Given the description of an element on the screen output the (x, y) to click on. 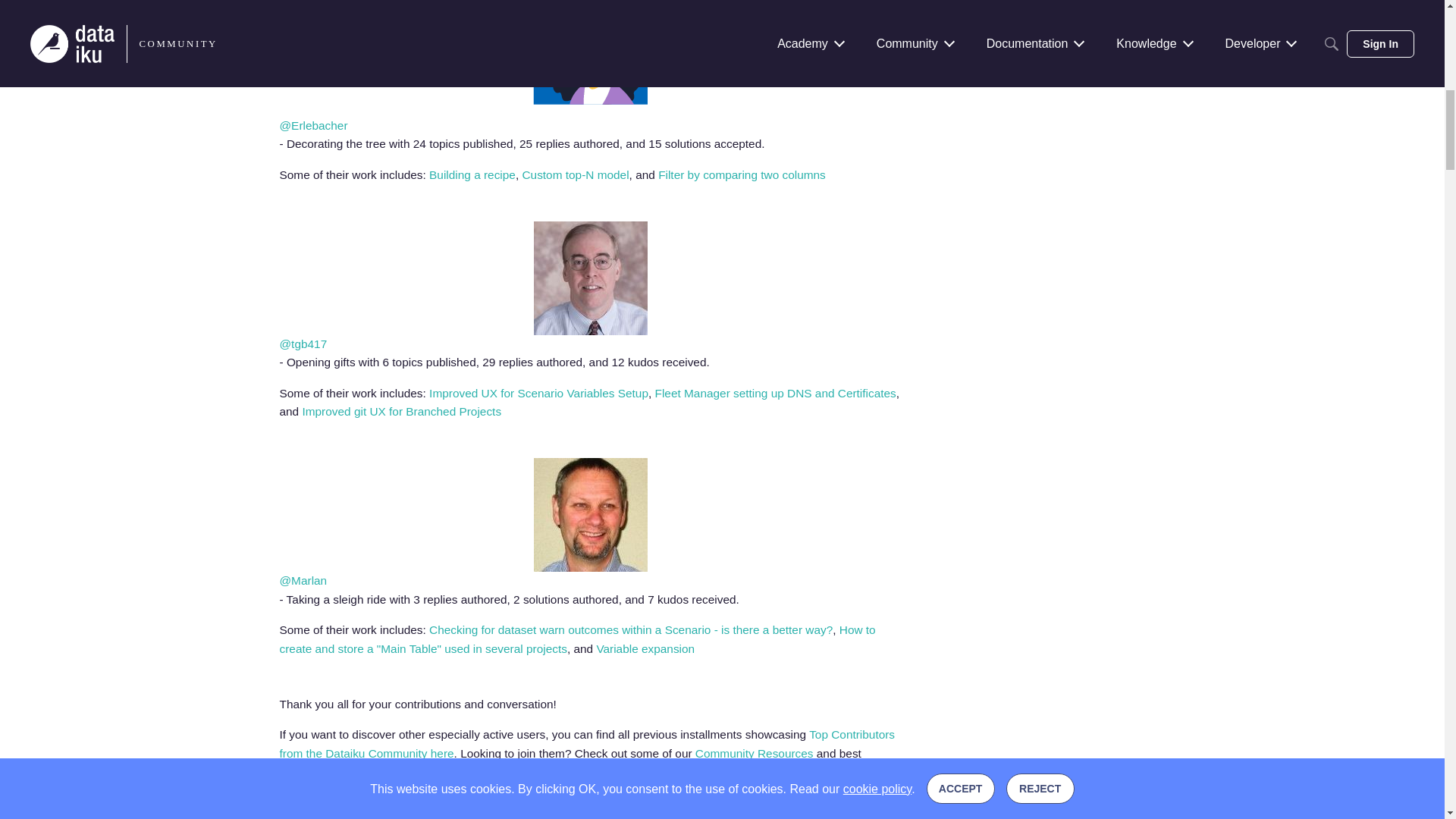
Search the Community (722, 76)
Sign in (722, 121)
Ask a question (722, 53)
Community FAQs (722, 94)
